Given the description of an element on the screen output the (x, y) to click on. 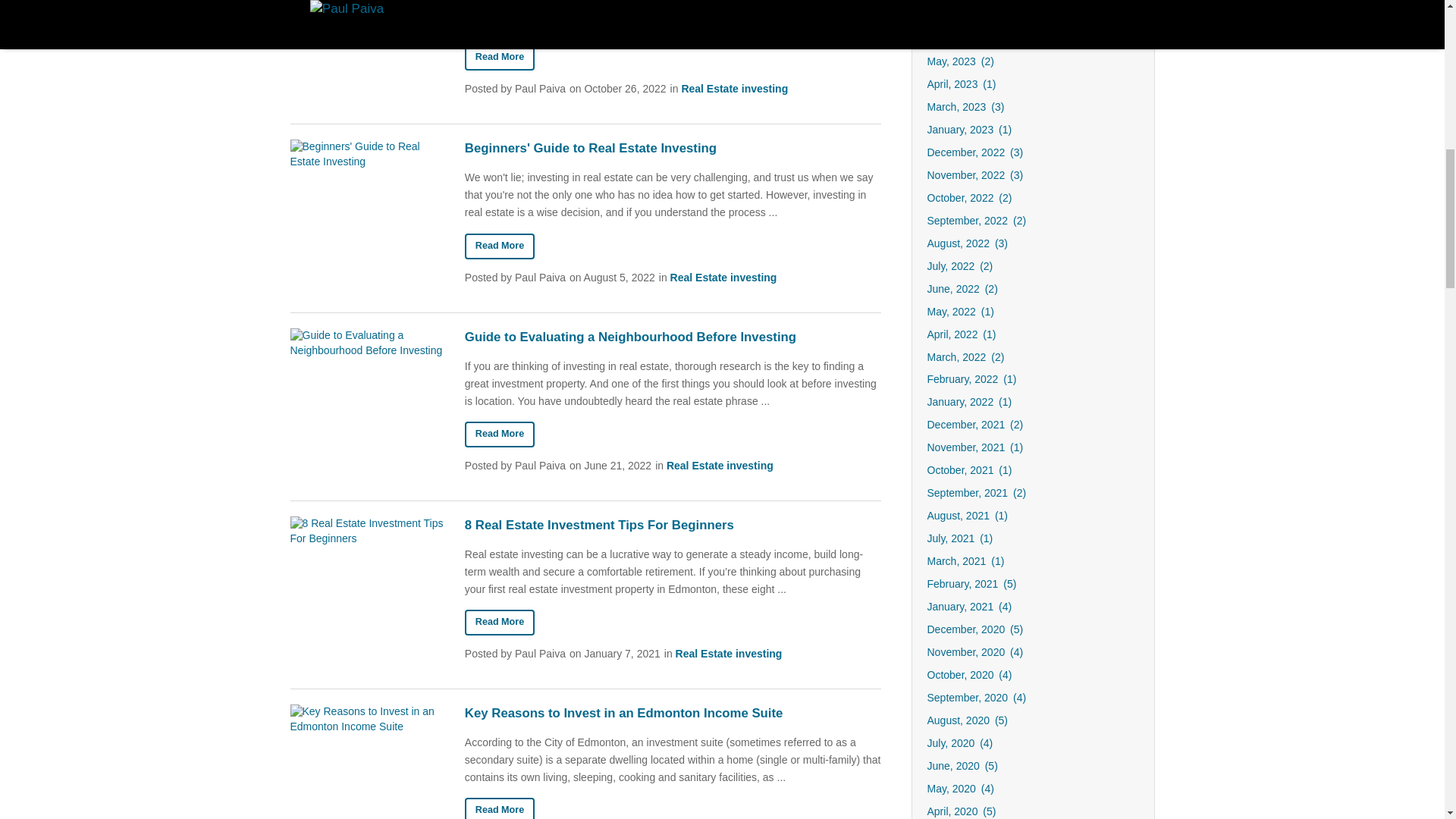
Do's and Don'ts of Property Investment (499, 57)
